Given the description of an element on the screen output the (x, y) to click on. 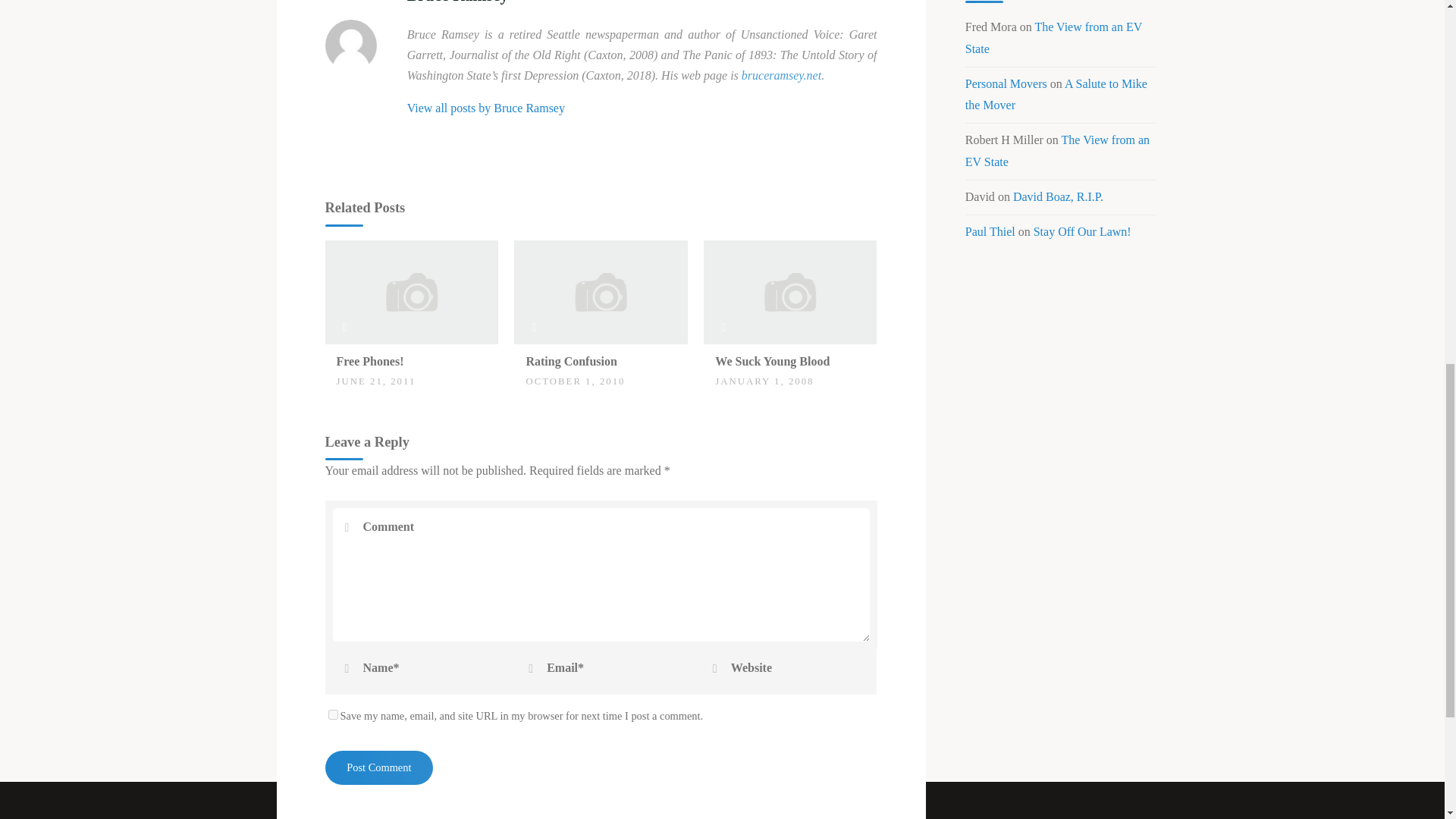
Free Phones! (370, 360)
Free Phones! (410, 290)
Free Phones! (370, 360)
yes (332, 714)
bruceramsey.net (781, 74)
View all posts by Bruce Ramsey (485, 107)
0 (344, 353)
Post Comment (378, 768)
